Given the description of an element on the screen output the (x, y) to click on. 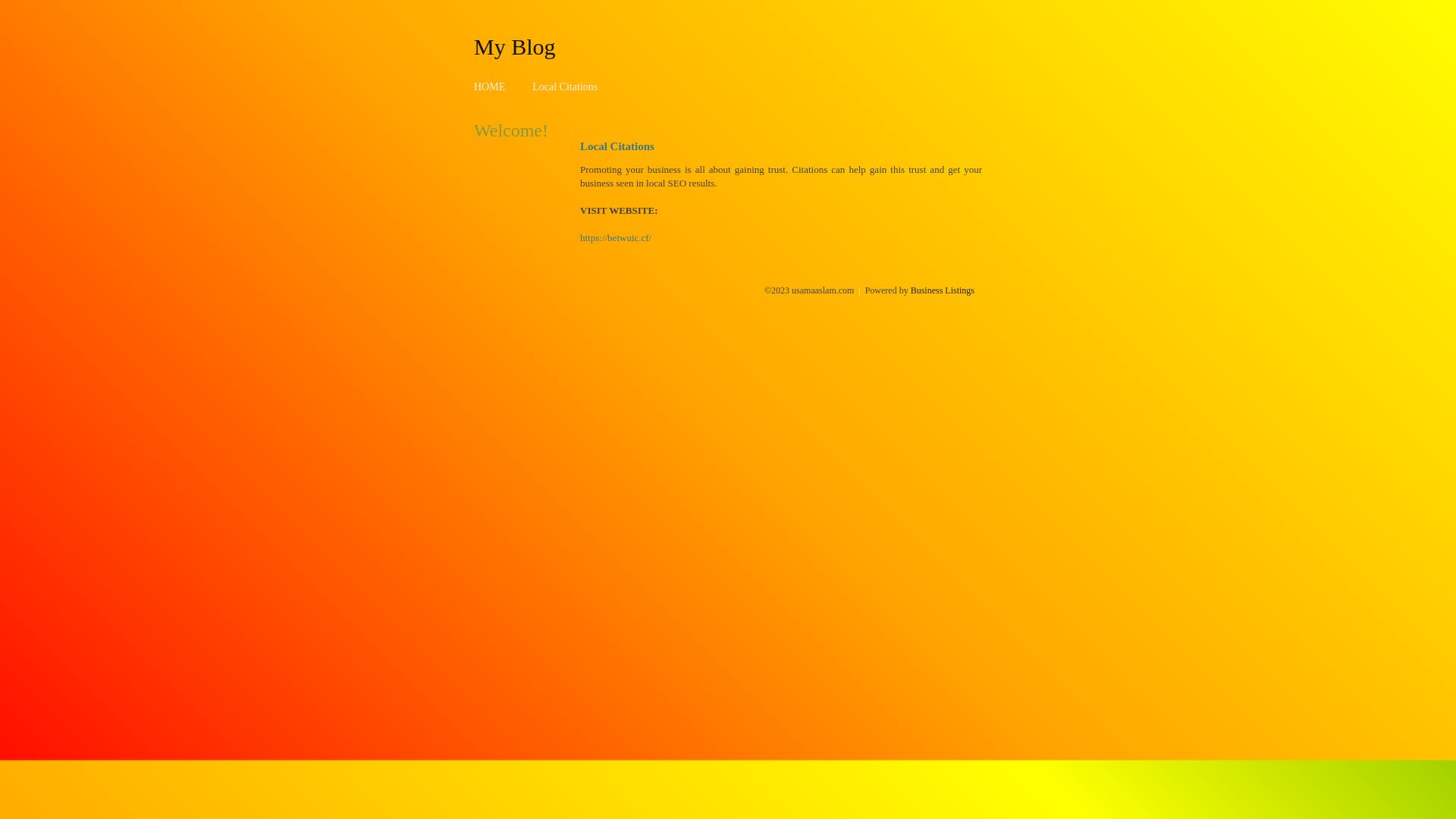
HOME Element type: text (489, 86)
Business Listings Element type: text (942, 290)
https://betwuic.cf/ Element type: text (615, 237)
My Blog Element type: text (514, 46)
Local Citations Element type: text (564, 86)
